Given the description of an element on the screen output the (x, y) to click on. 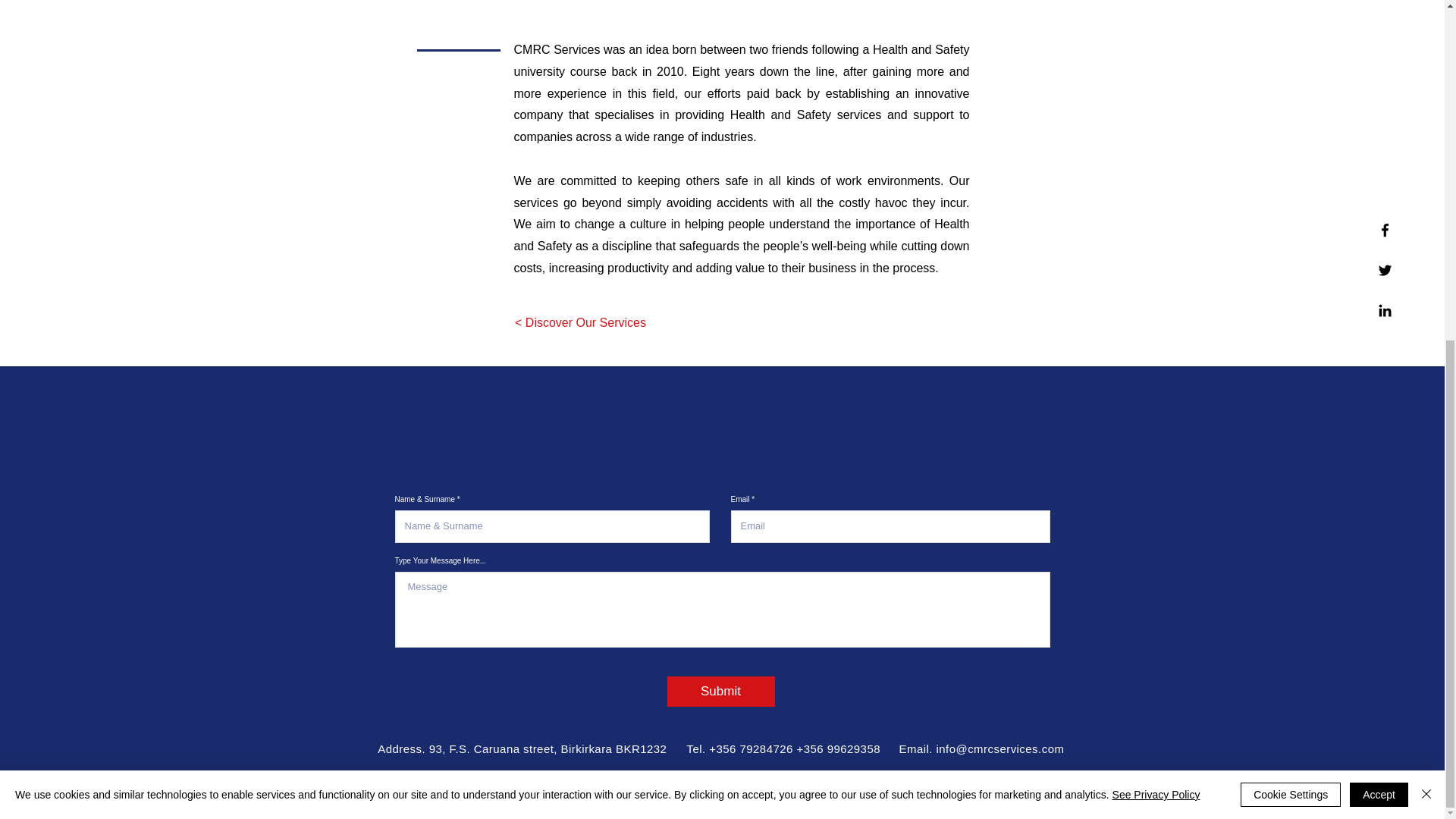
Accept (1378, 218)
Submit (720, 691)
See Privacy Policy (1155, 218)
Cookie Settings (1290, 218)
